Given the description of an element on the screen output the (x, y) to click on. 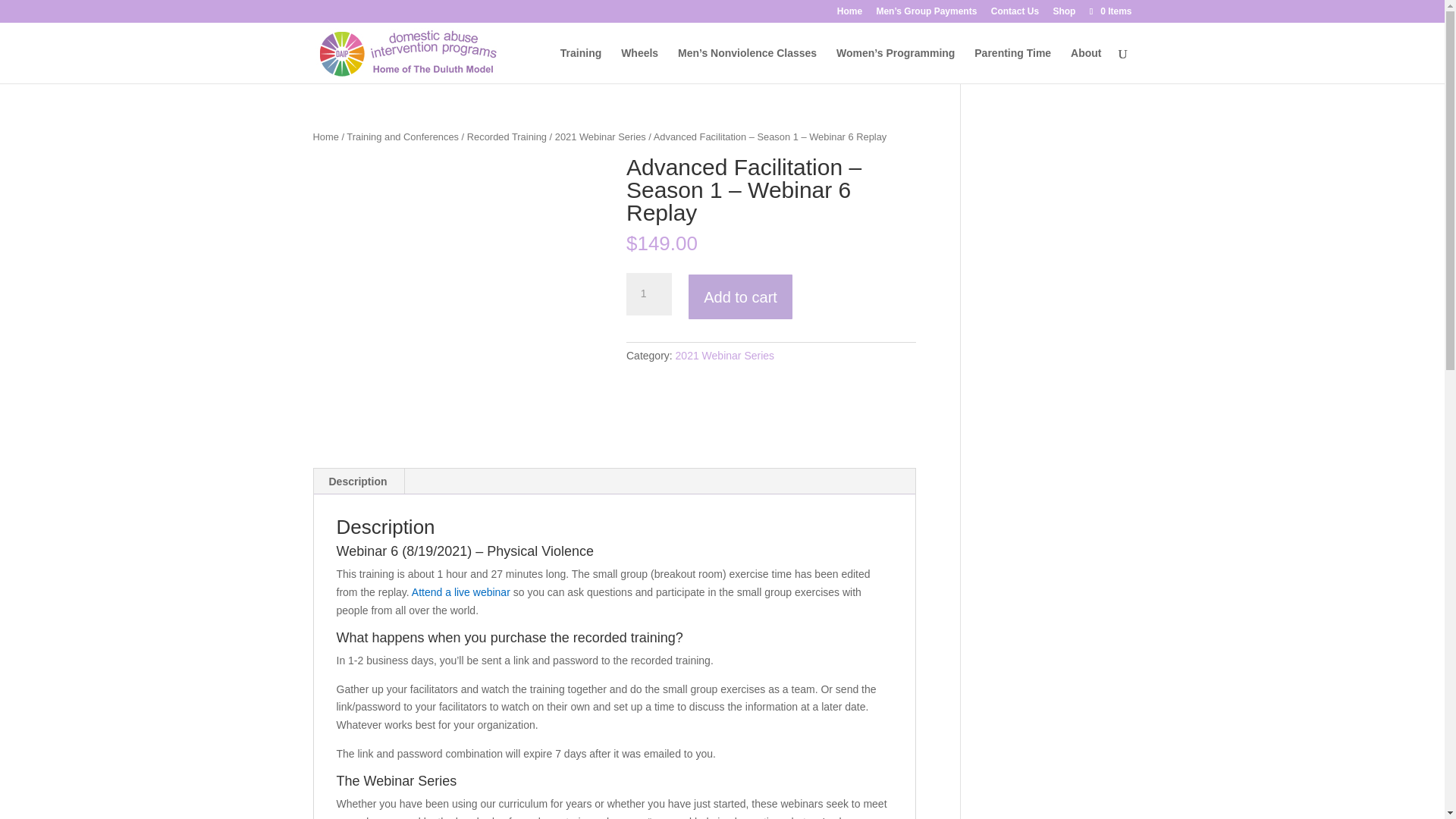
0 Items (1108, 10)
Recorded Training (507, 136)
Training (580, 65)
Shop (1063, 14)
1 (648, 293)
Wheels (639, 65)
Attend a live webinar (461, 592)
2021 Webinar Series (724, 355)
Home (849, 14)
Parenting Time (1012, 65)
2021 Webinar Series (600, 136)
Training and Conferences (402, 136)
Description (358, 481)
Add to cart (740, 296)
Contact Us (1015, 14)
